Given the description of an element on the screen output the (x, y) to click on. 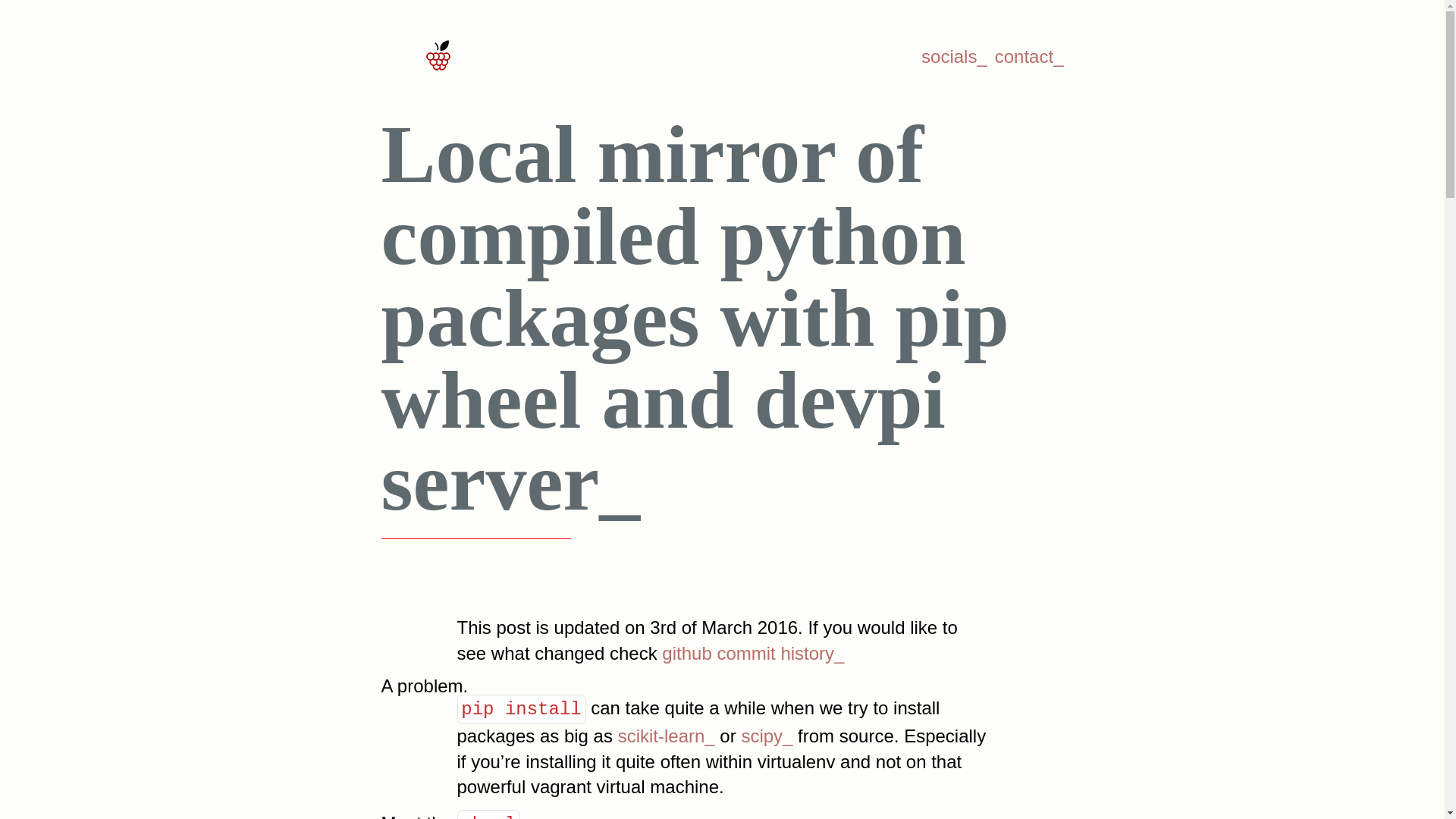
socials (954, 56)
contact (1029, 56)
scipy (766, 735)
scikit-learn (665, 735)
github commit history (753, 652)
